Given the description of an element on the screen output the (x, y) to click on. 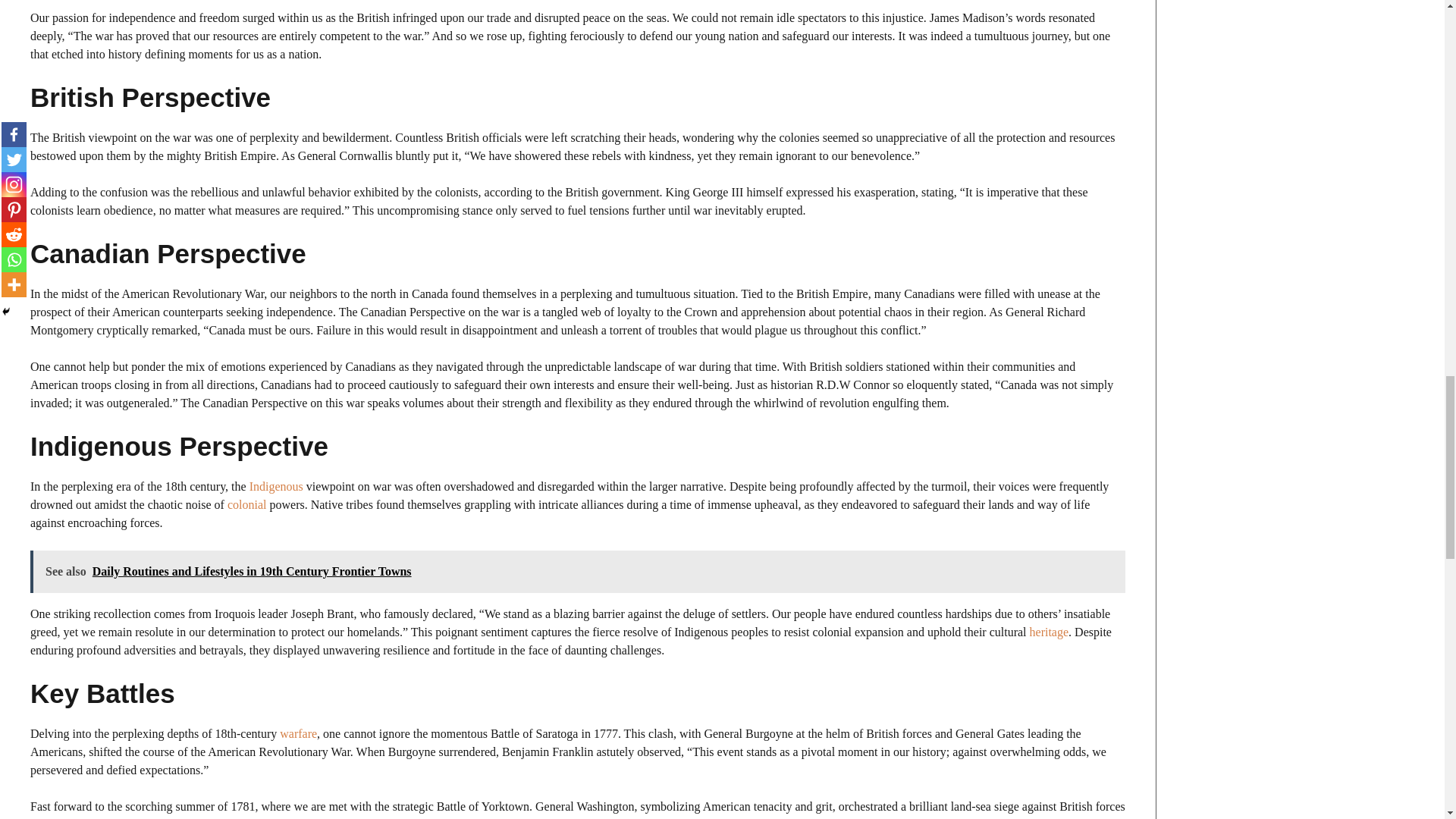
Indigenous (275, 486)
colonial (246, 504)
